Given the description of an element on the screen output the (x, y) to click on. 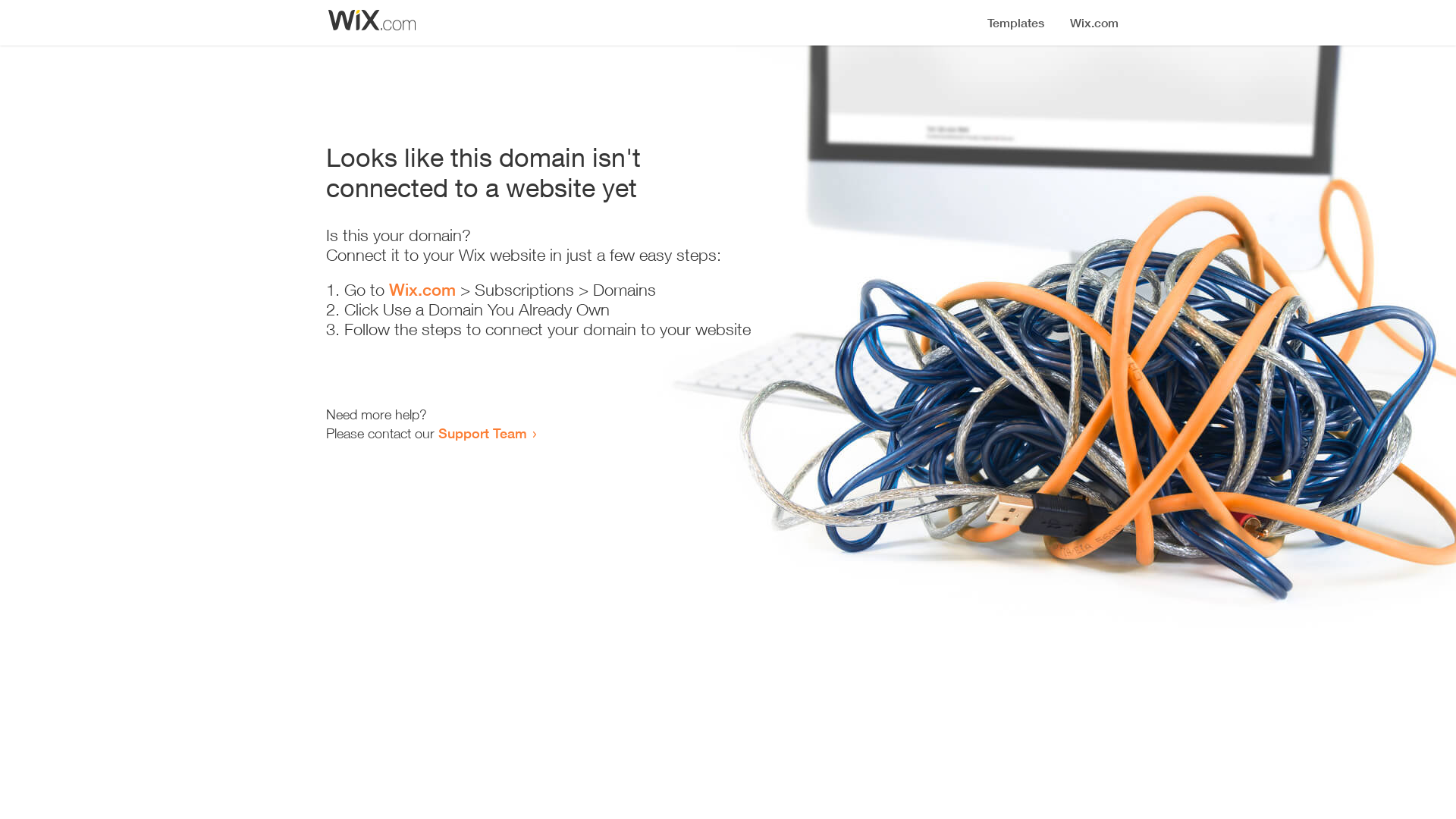
Wix.com Element type: text (422, 289)
Support Team Element type: text (482, 432)
